Given the description of an element on the screen output the (x, y) to click on. 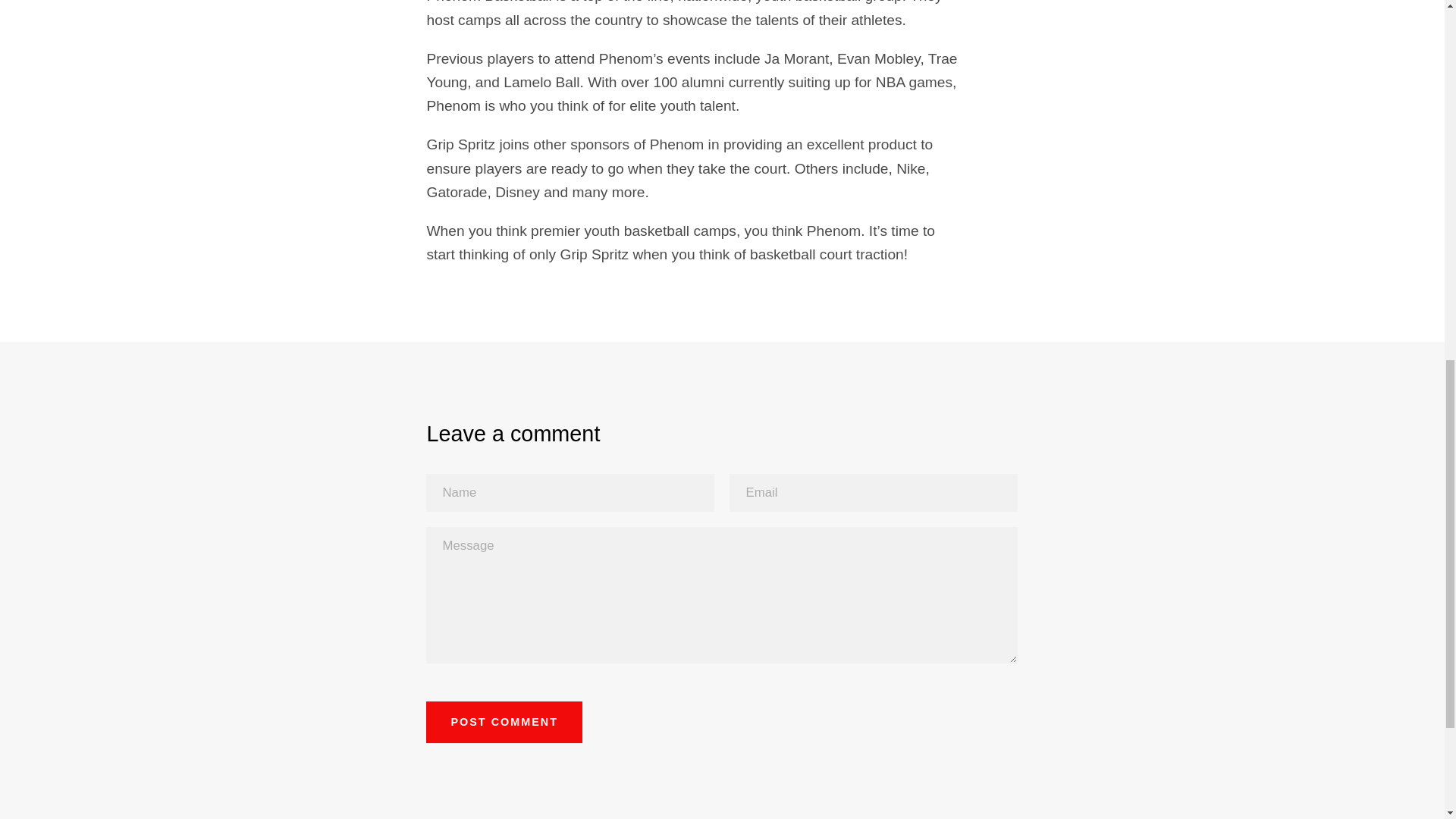
PayPal (953, 4)
Visa (1057, 4)
Post comment (504, 722)
Shop Pay (988, 4)
Venmo (1022, 4)
Post comment (504, 722)
Mastercard (918, 4)
